Given the description of an element on the screen output the (x, y) to click on. 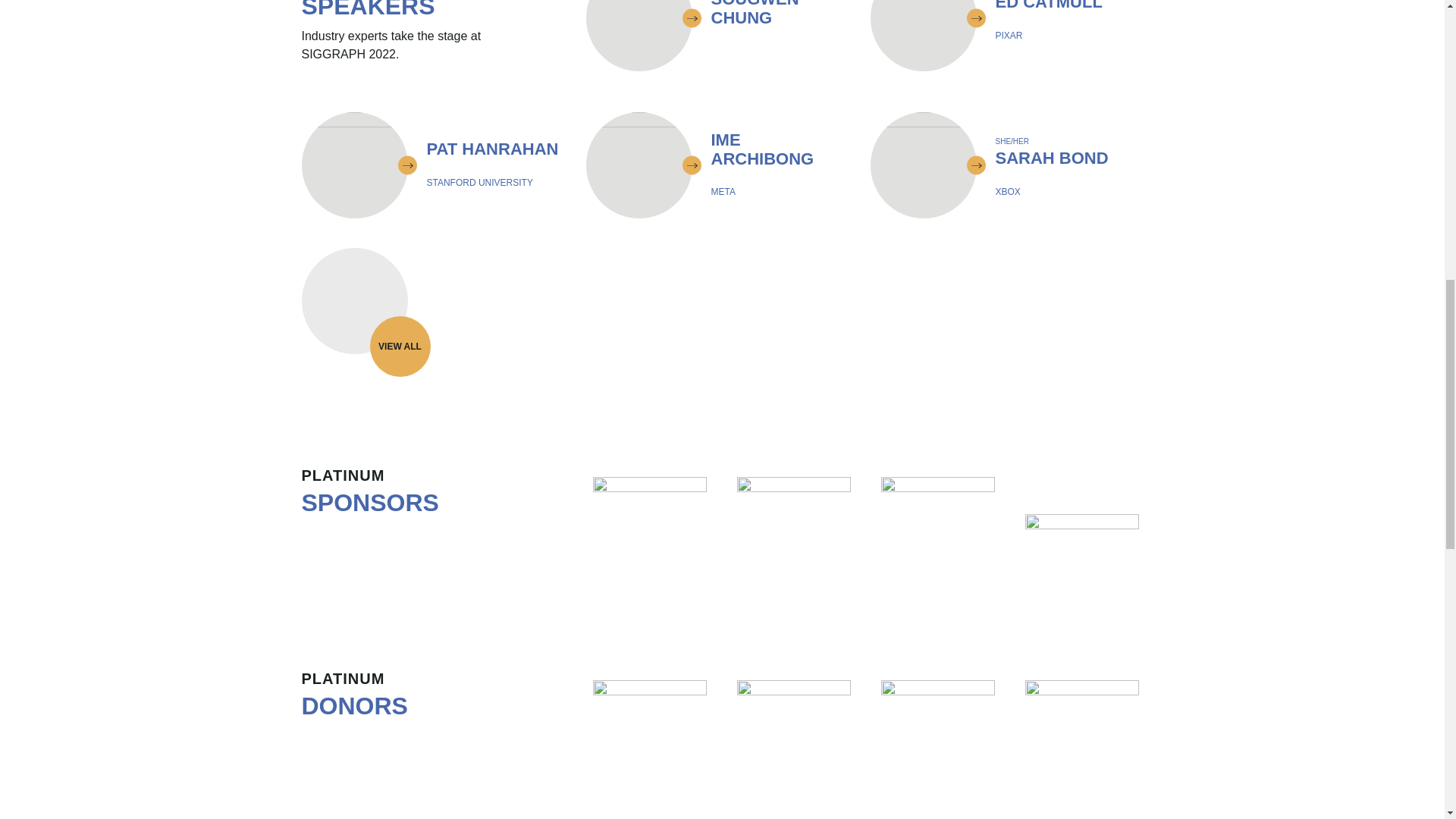
SOUGWEN CHUNG (716, 35)
VIEW ALL (433, 165)
